Given the description of an element on the screen output the (x, y) to click on. 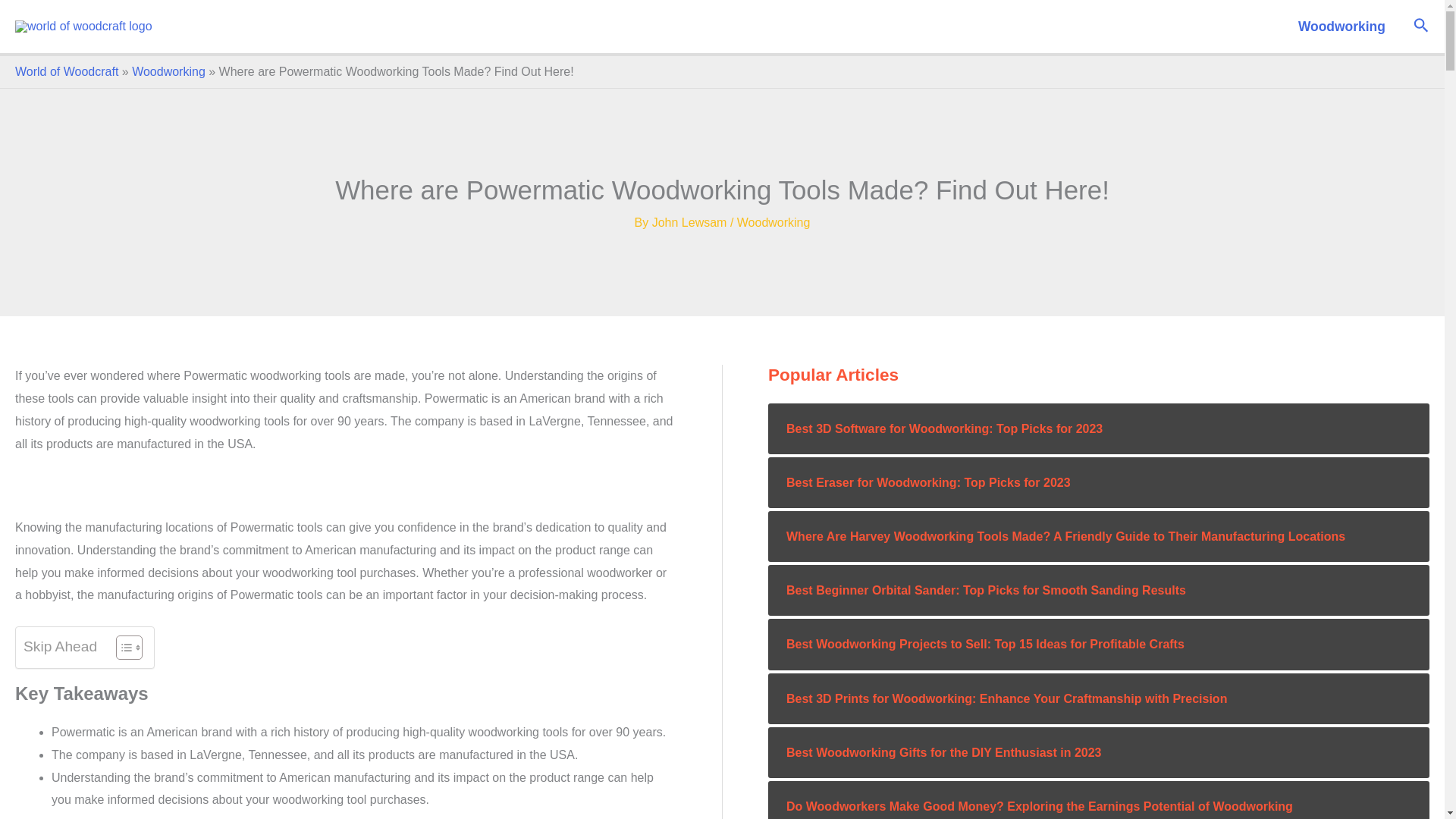
Woodworking (1340, 26)
Search (1421, 26)
John Lewsam (691, 222)
World of Woodcraft (65, 71)
Woodworking (168, 71)
View all posts by John Lewsam (691, 222)
Woodworking (773, 222)
